Given the description of an element on the screen output the (x, y) to click on. 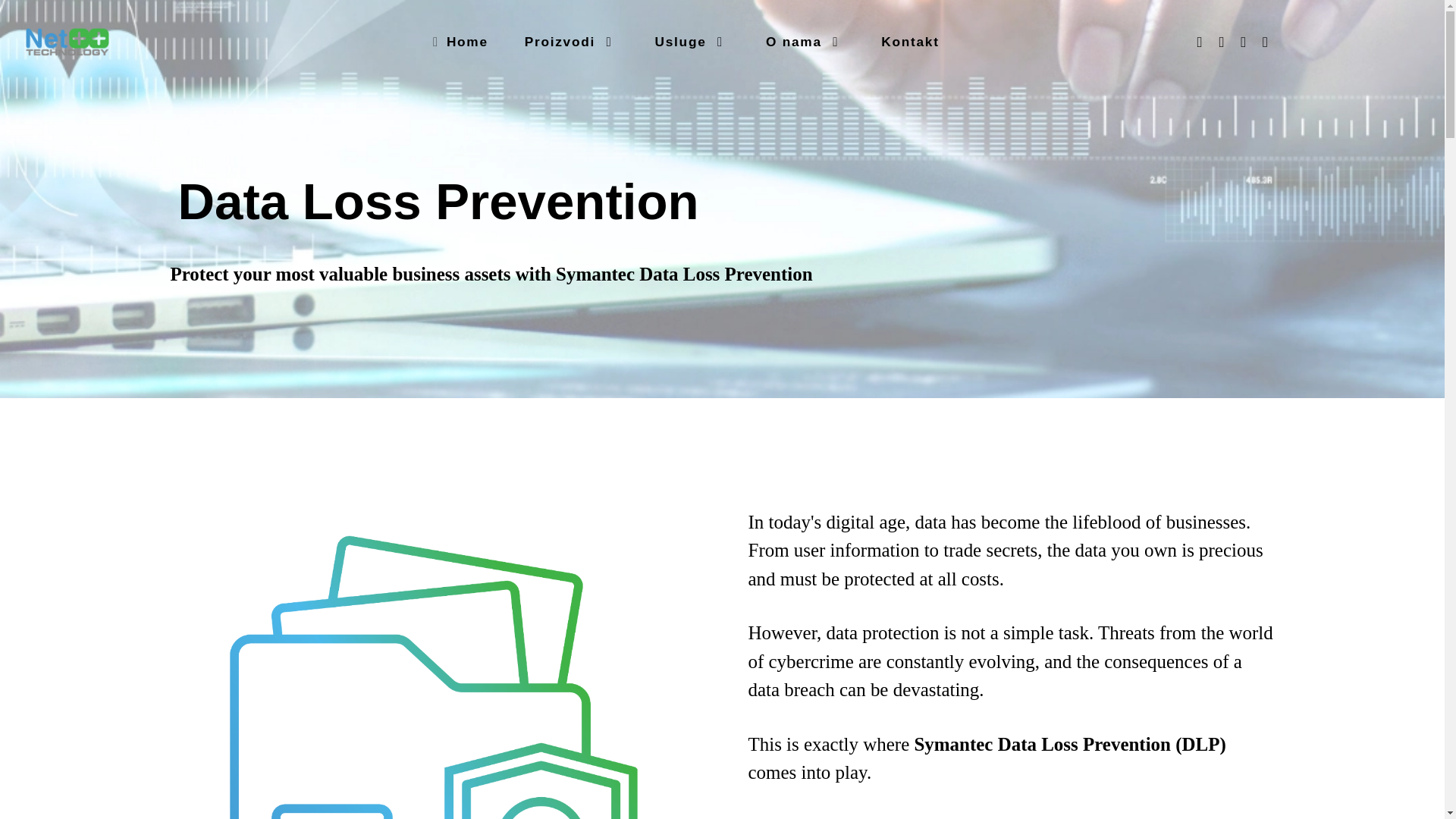
Home (460, 41)
Kontakt (909, 41)
NetPP (67, 41)
Proizvodi (571, 41)
Usluge (692, 41)
